Given the description of an element on the screen output the (x, y) to click on. 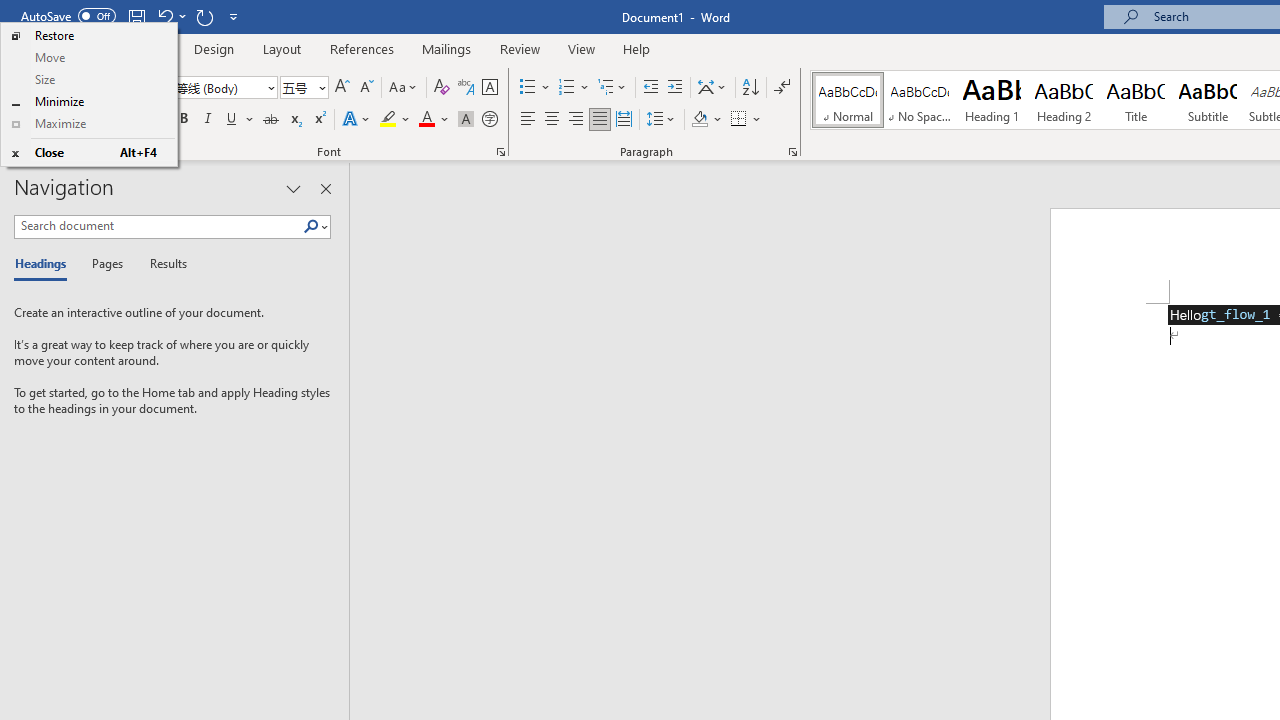
Size (88, 79)
